Given the description of an element on the screen output the (x, y) to click on. 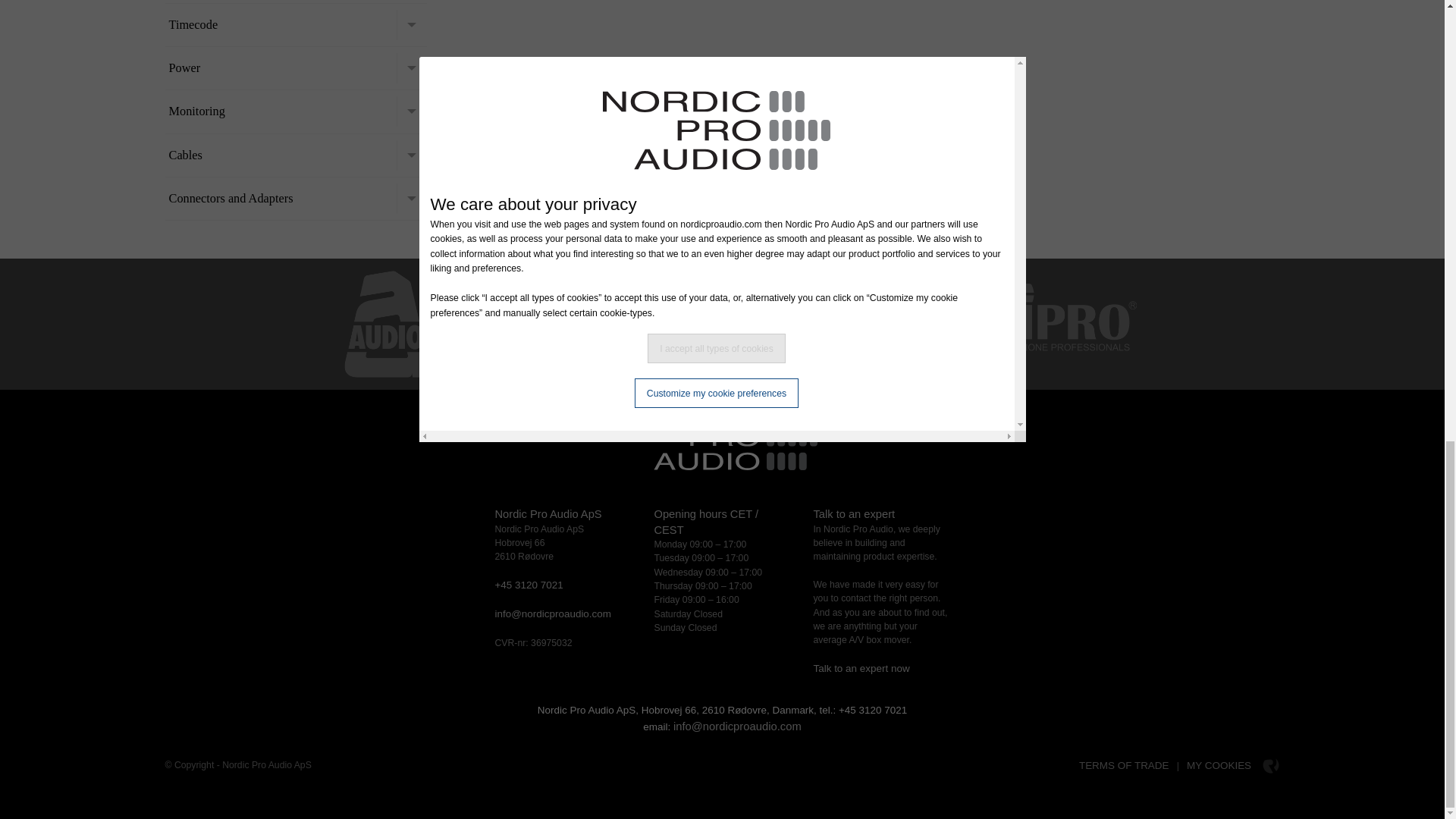
Toggle menu (411, 111)
Toggle menu (411, 198)
Website by Raymeon (1270, 765)
Toggle menu (411, 68)
Toggle menu (411, 24)
Toggle menu (411, 155)
